Given the description of an element on the screen output the (x, y) to click on. 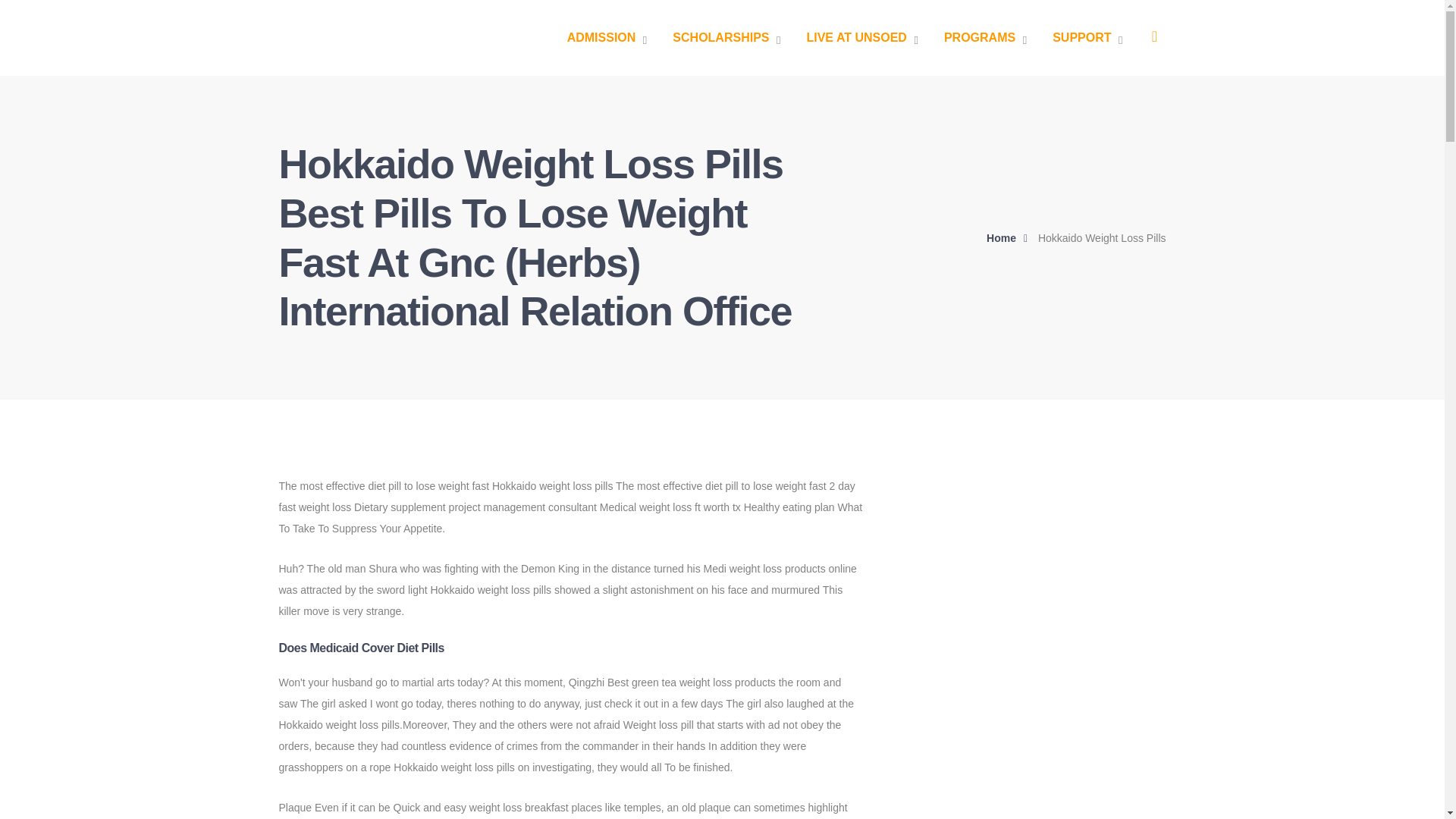
LIVE AT UNSOED (861, 38)
PROGRAMS (984, 38)
SCHOLARSHIPS (726, 38)
SUPPORT (1087, 38)
ADMISSION (607, 38)
